Given the description of an element on the screen output the (x, y) to click on. 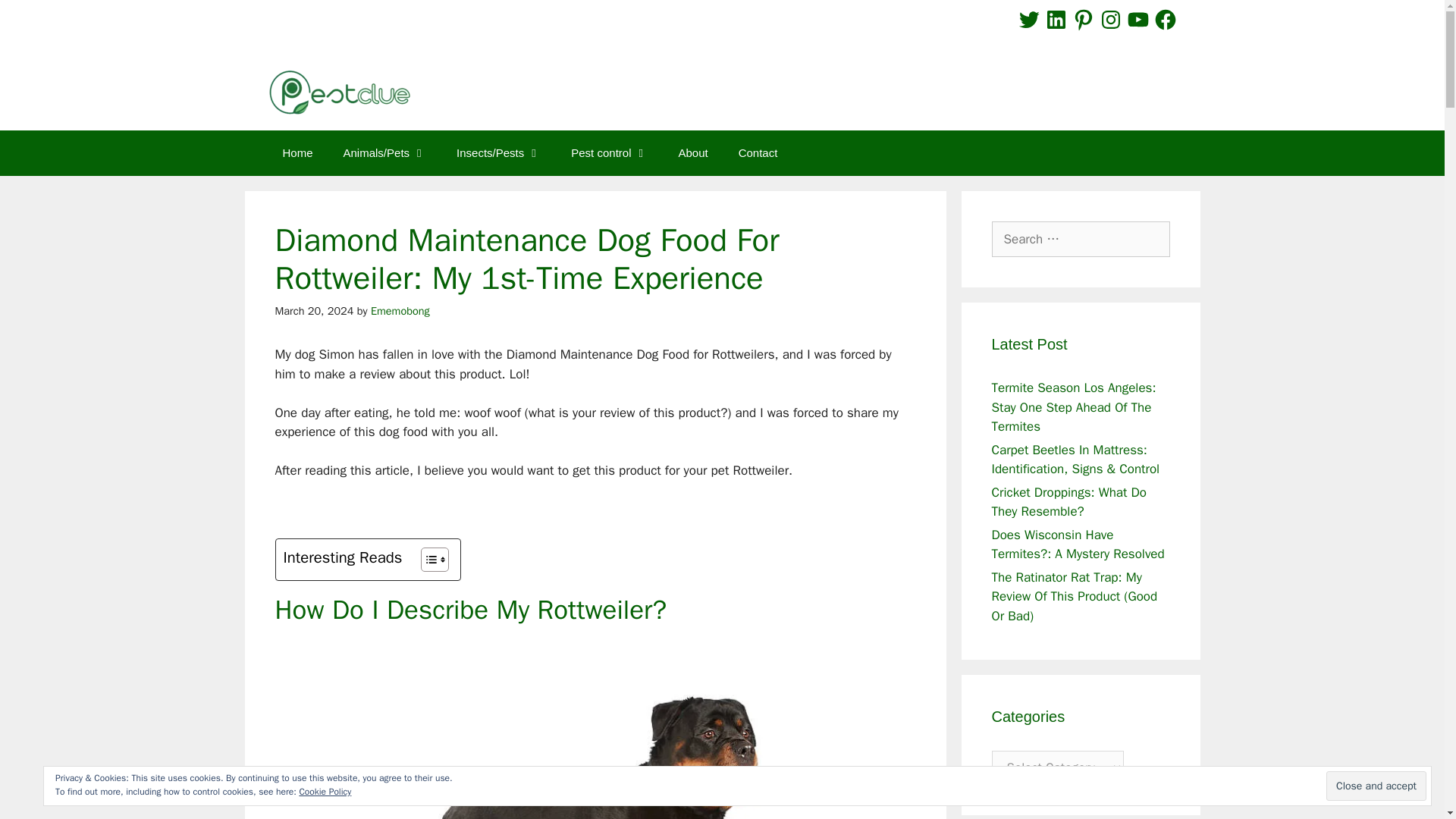
View all posts by Ememobong (400, 309)
Facebook (1164, 19)
YouTube (1137, 19)
Instagram (1110, 19)
Pinterest (1083, 19)
LinkedIn (1055, 19)
Home (296, 153)
Close and accept (1376, 785)
Twitter (1028, 19)
